Given the description of an element on the screen output the (x, y) to click on. 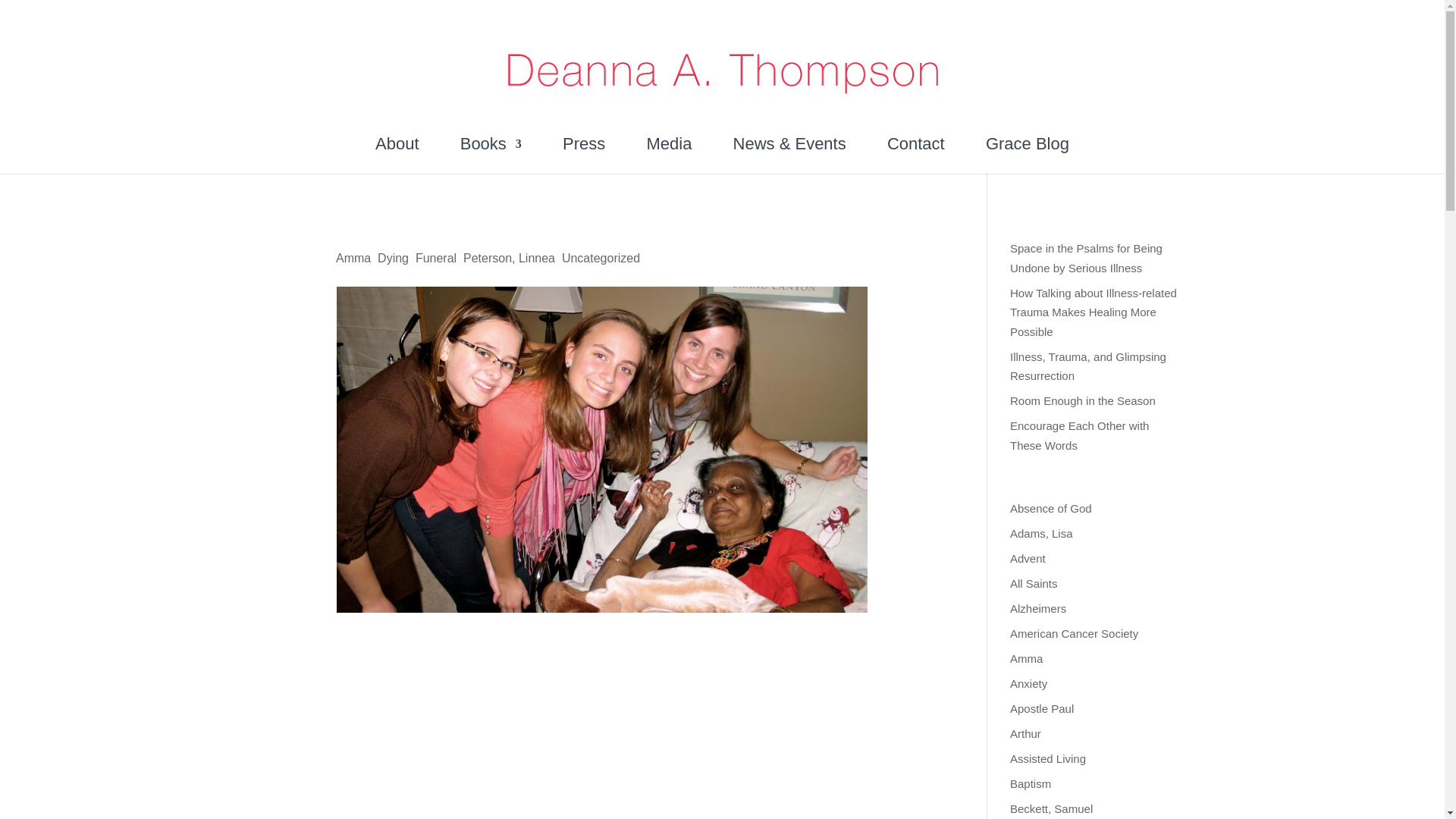
Anxiety (1028, 683)
Contact (915, 155)
Dying (393, 257)
Absence of God (1051, 508)
Press (583, 155)
Adams, Lisa (1041, 533)
Amma (353, 257)
Books (490, 155)
A Tribute to Amma (352, 227)
Room Enough in the Season (1083, 400)
